Given the description of an element on the screen output the (x, y) to click on. 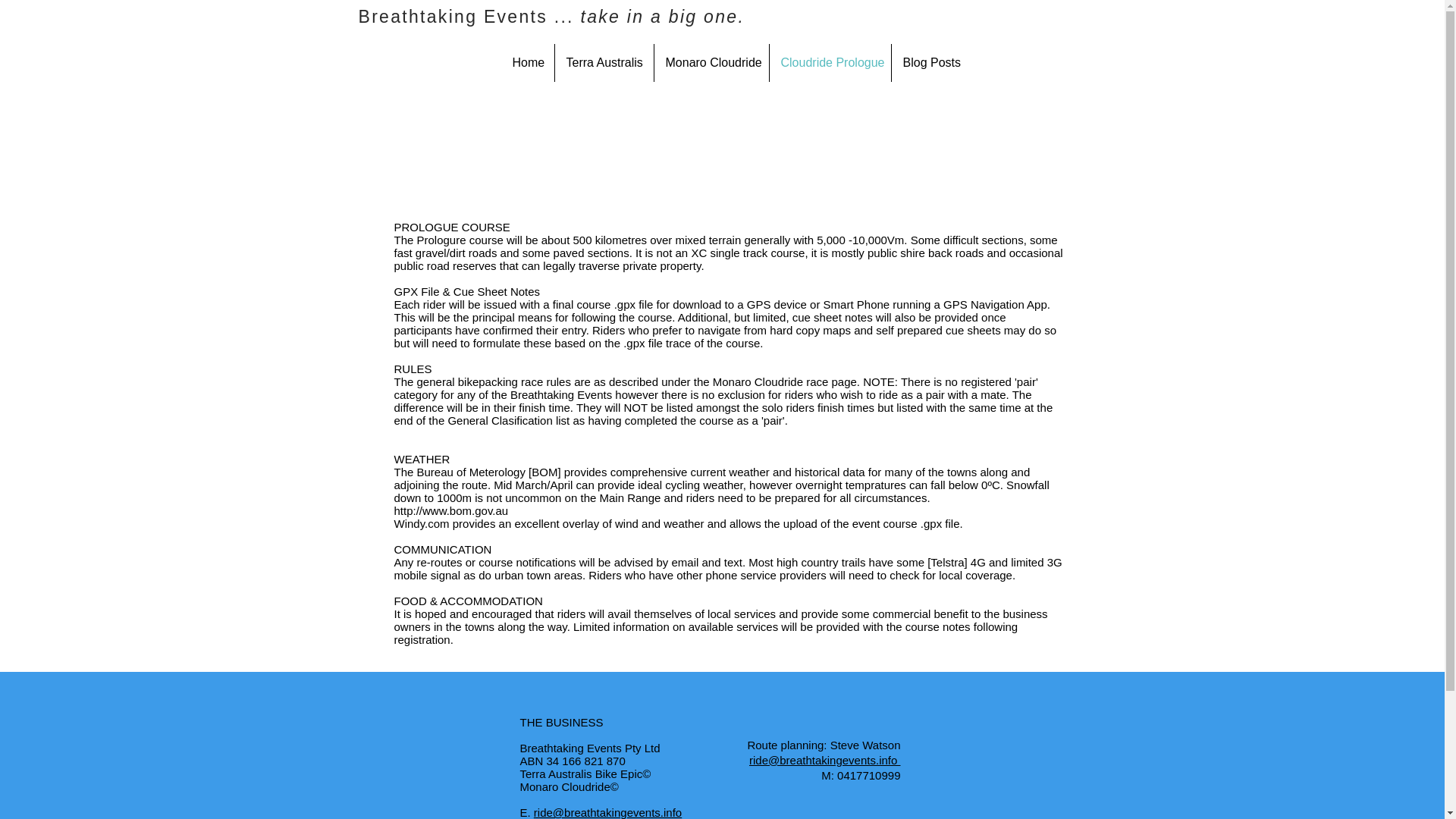
Home (526, 62)
Terra Australis (603, 62)
Blog Posts (930, 62)
Cloudride Prologue (828, 62)
Monaro Cloudride (710, 62)
